Given the description of an element on the screen output the (x, y) to click on. 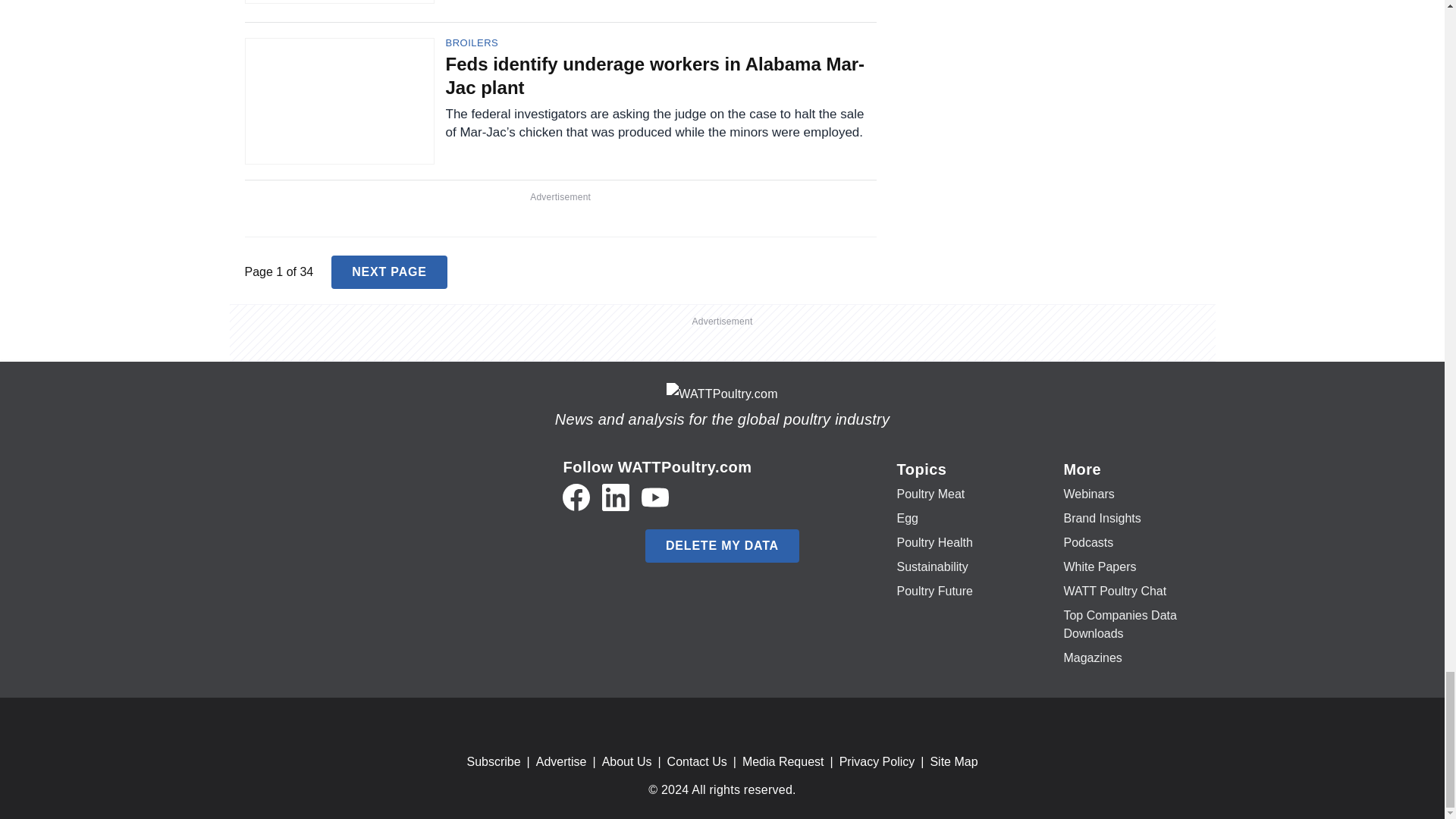
YouTube icon (655, 497)
Facebook icon (575, 497)
LinkedIn icon (615, 497)
